Given the description of an element on the screen output the (x, y) to click on. 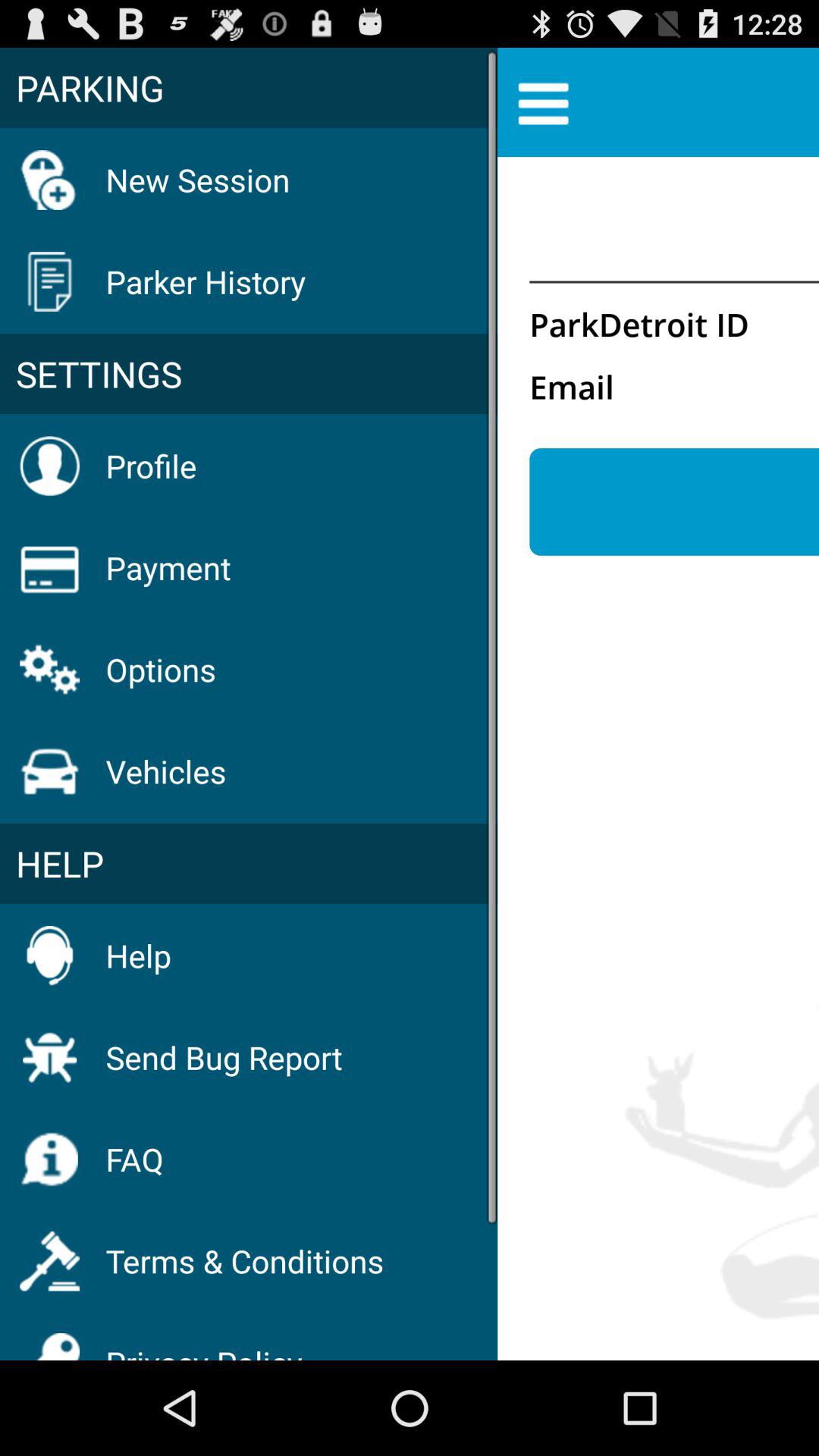
open the icon below the terms & conditions item (203, 1342)
